Given the description of an element on the screen output the (x, y) to click on. 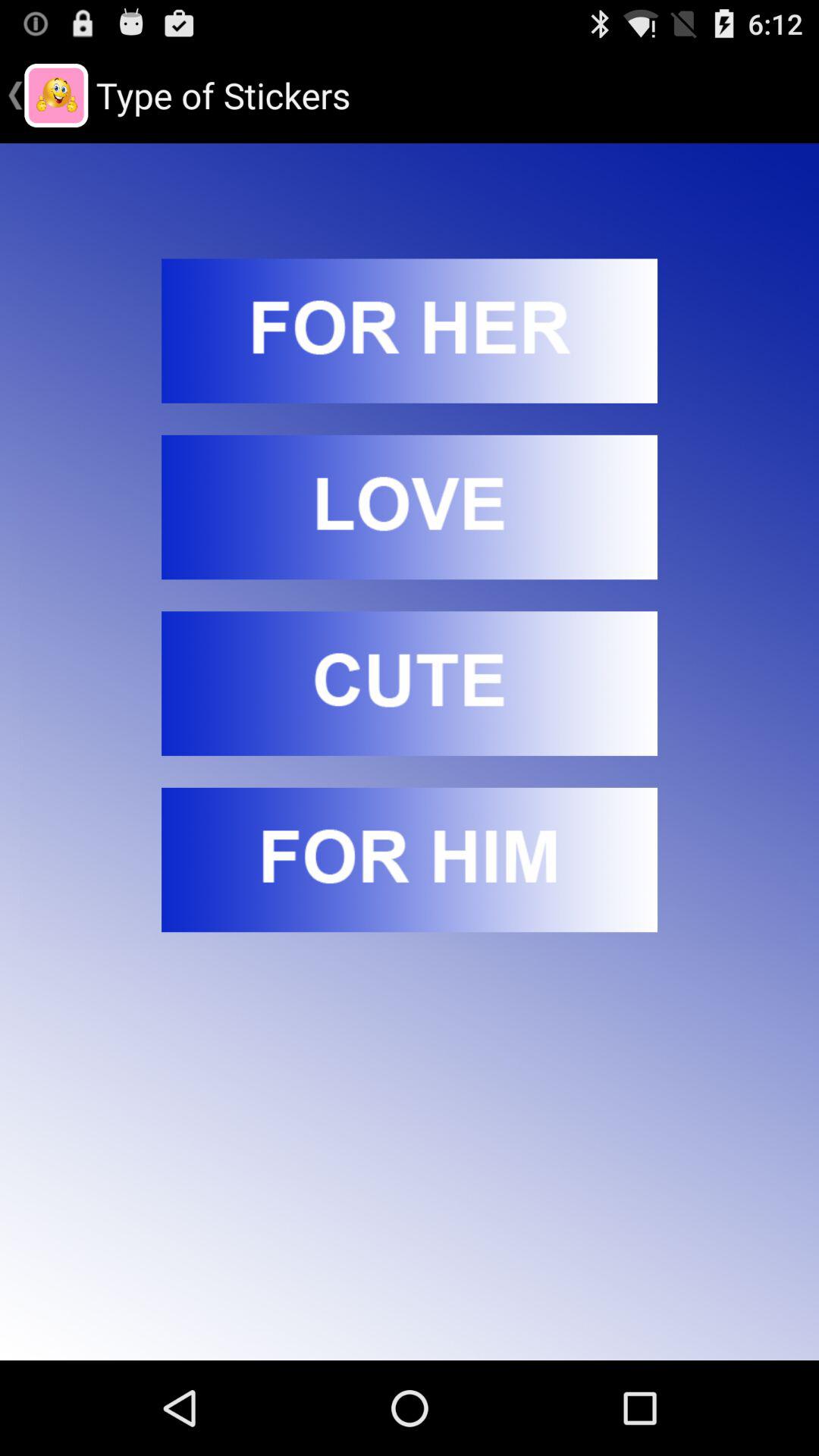
click (409, 330)
